Given the description of an element on the screen output the (x, y) to click on. 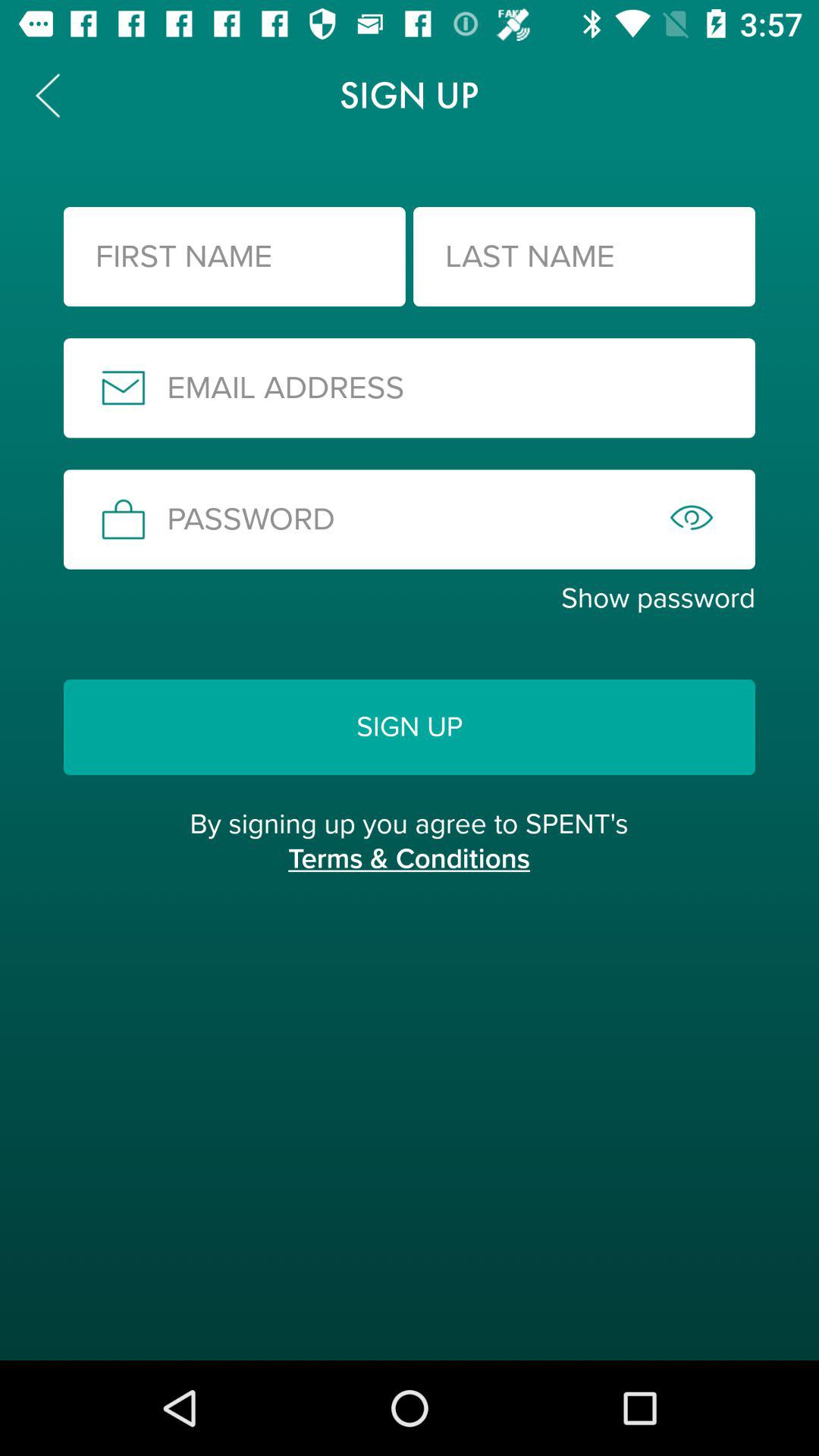
open terms & conditions (408, 874)
